Given the description of an element on the screen output the (x, y) to click on. 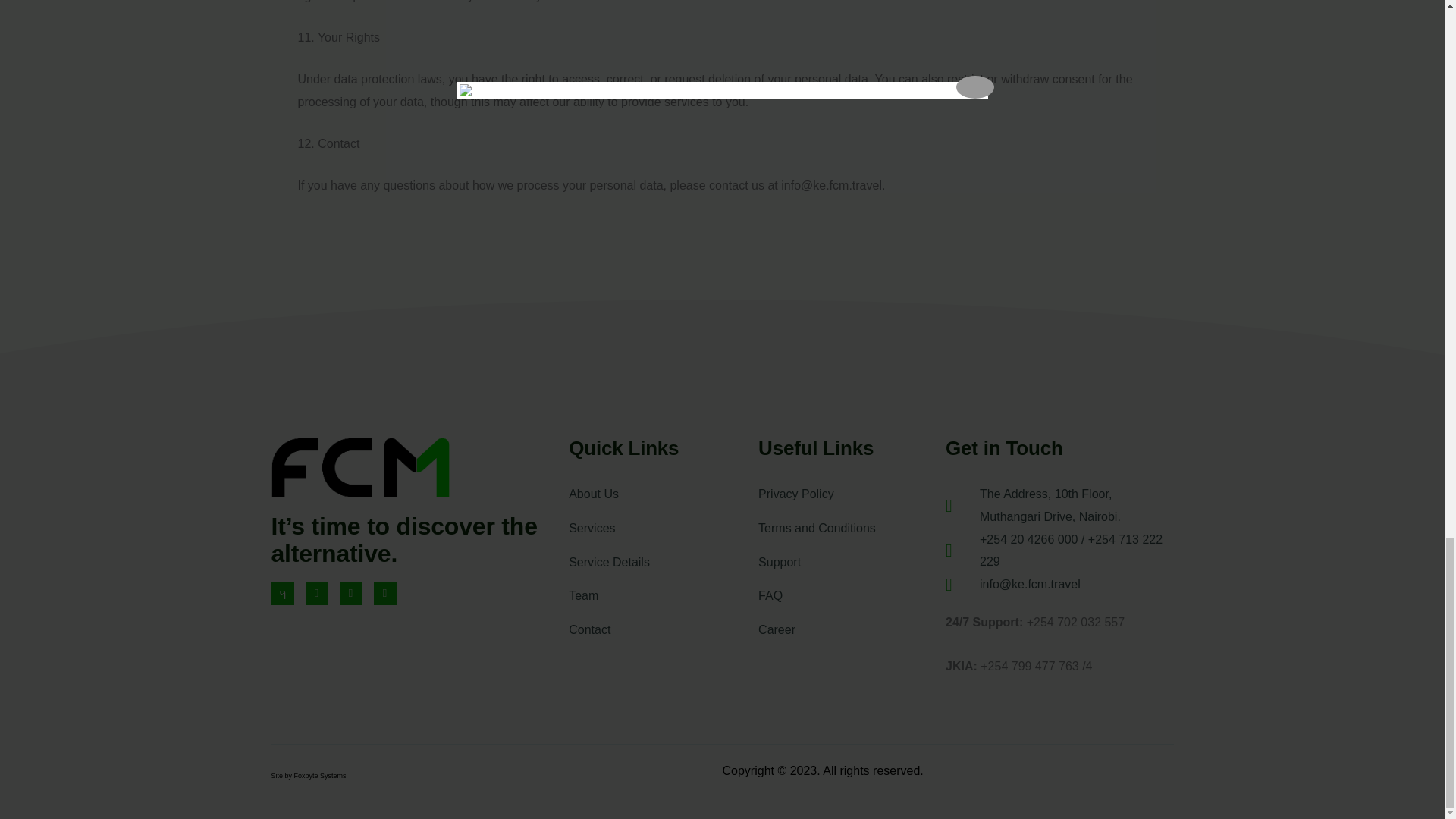
Services (663, 527)
About Us (663, 494)
Service Details (663, 562)
FAQ (851, 595)
Contact (663, 630)
Jki-facebook-light (282, 593)
Instagram (350, 593)
Privacy Policy (851, 494)
Terms and Conditions (851, 527)
Support (851, 562)
Twitter (315, 593)
Career (851, 630)
Youtube (384, 593)
Team (663, 595)
